Given the description of an element on the screen output the (x, y) to click on. 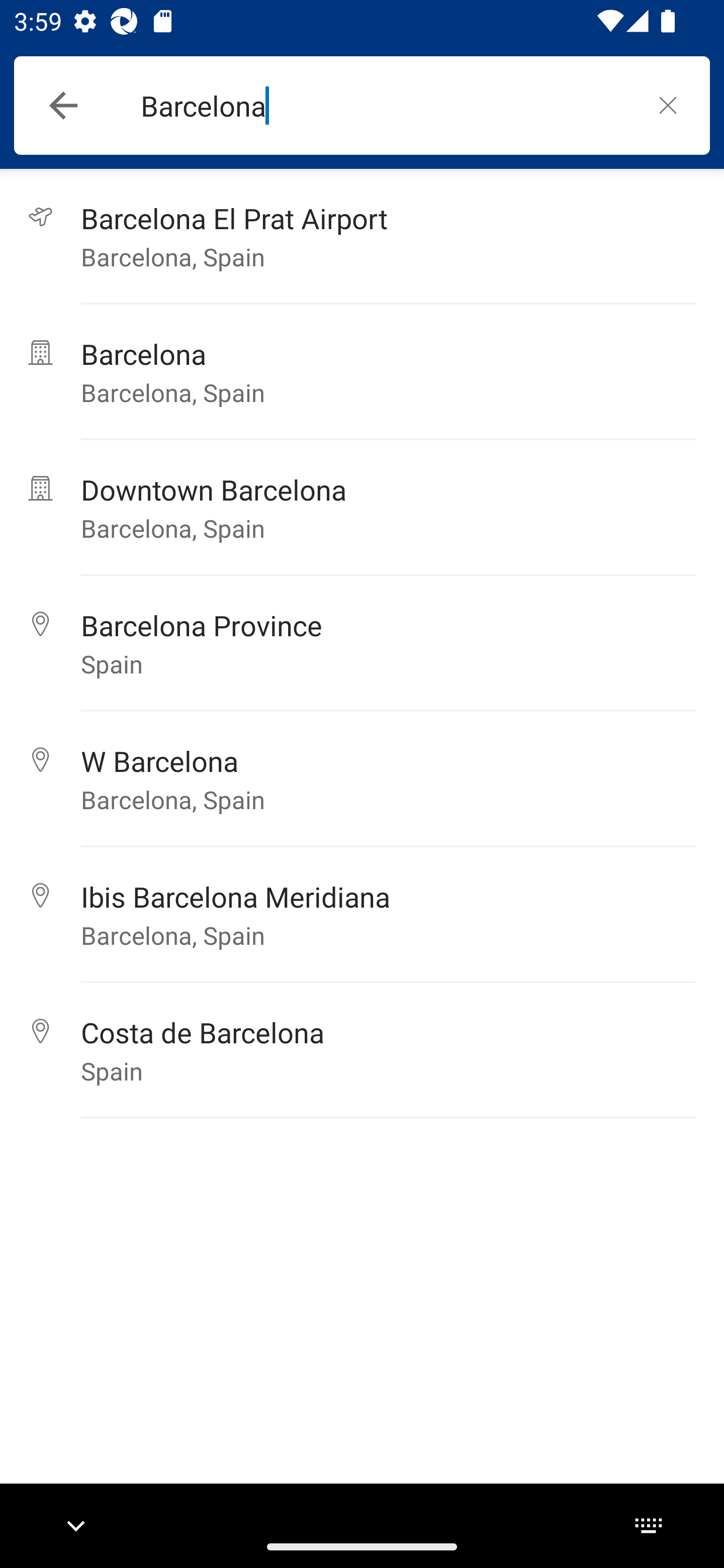
Navigate up (62, 105)
놕 (667, 104)
Barcelona (382, 105)
끭 Barcelona El Prat Airport Barcelona, Spain (362, 236)
넭 Barcelona Barcelona, Spain (362, 372)
넭 Downtown Barcelona Barcelona, Spain (362, 507)
낍 Barcelona Province Spain (362, 643)
낍 W Barcelona Barcelona, Spain (362, 778)
낍 Ibis Barcelona Meridiana Barcelona, Spain (362, 914)
낍 Costa de Barcelona Spain (362, 1050)
